Given the description of an element on the screen output the (x, y) to click on. 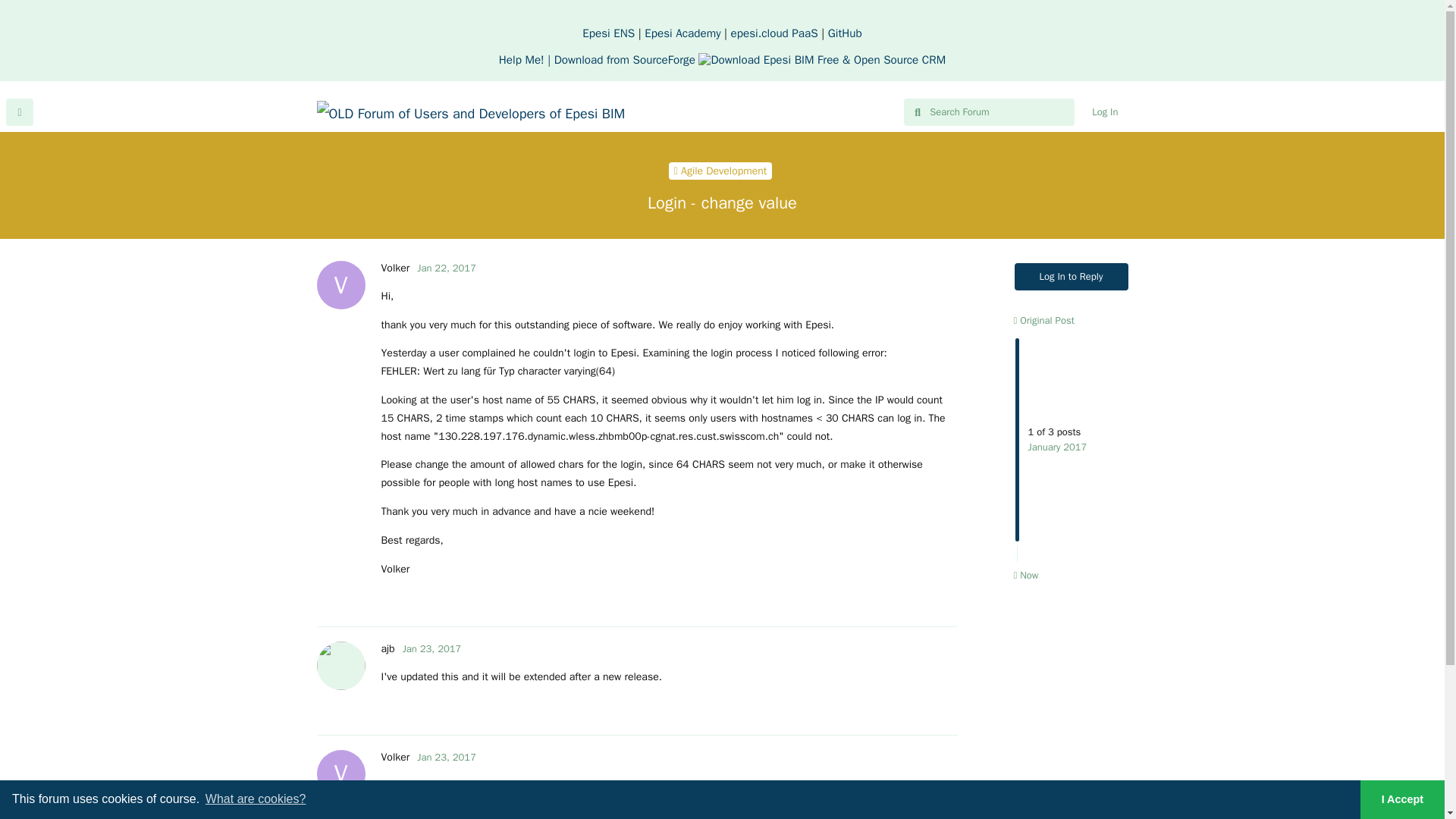
Jan 23, 2017 (446, 757)
Log In to Reply (1071, 276)
epesi.cloud PaaS (774, 32)
Download from SourceForge (749, 59)
Sunday, January 22, 2017 4:15 AM (446, 267)
Jan 22, 2017 (446, 267)
Log In (394, 267)
Epesi Academy (1103, 112)
ajb (682, 32)
